Given the description of an element on the screen output the (x, y) to click on. 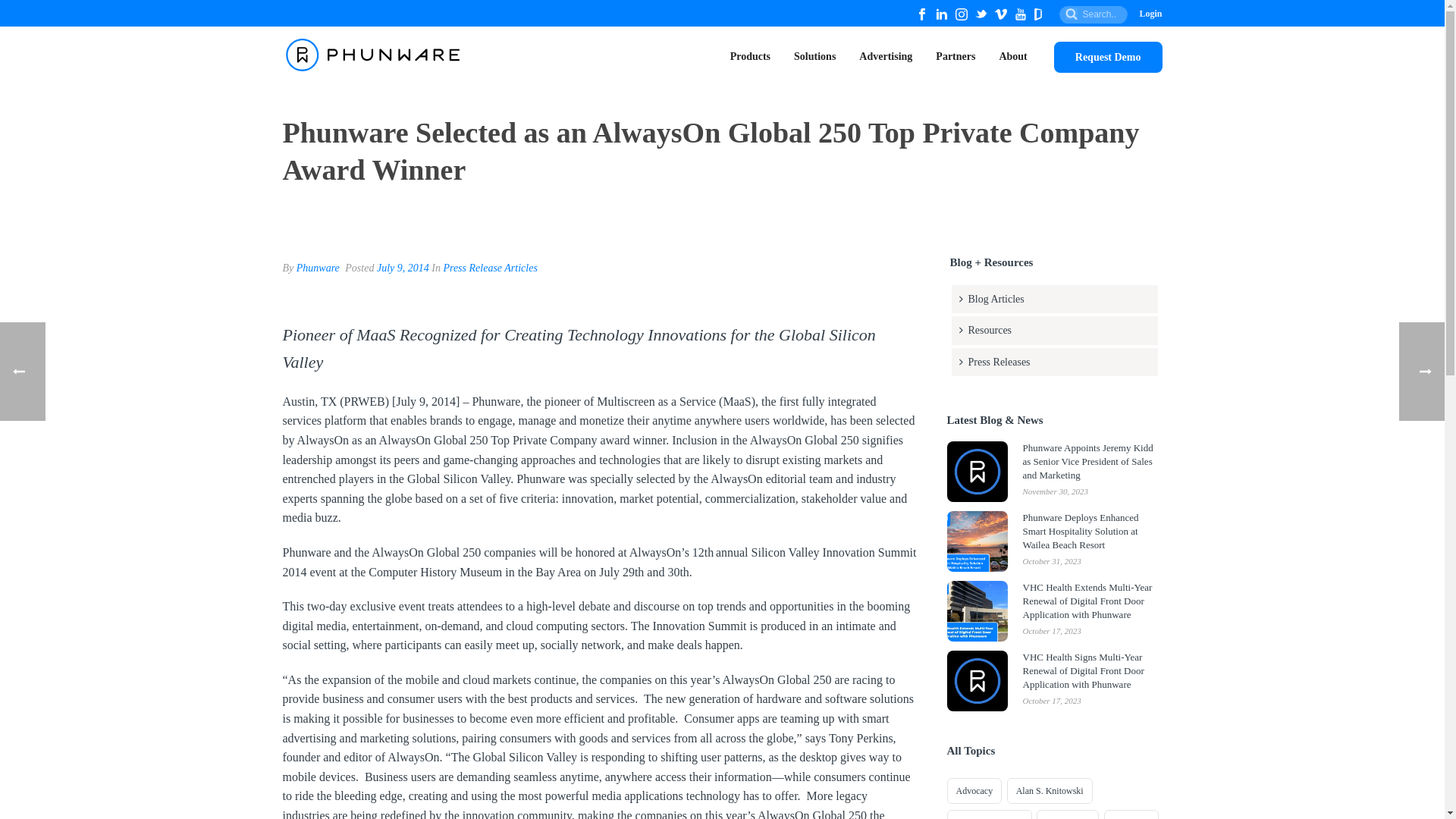
Products (750, 54)
Posts by Phunware (318, 267)
Partners (955, 54)
About (1012, 54)
Engage Anyone Anywhere (373, 55)
Request Demo (1107, 56)
Advertising (885, 54)
Solutions (815, 54)
Solutions (815, 54)
Login (1149, 13)
Products (750, 54)
Partners (955, 54)
Advertising (885, 54)
